Given the description of an element on the screen output the (x, y) to click on. 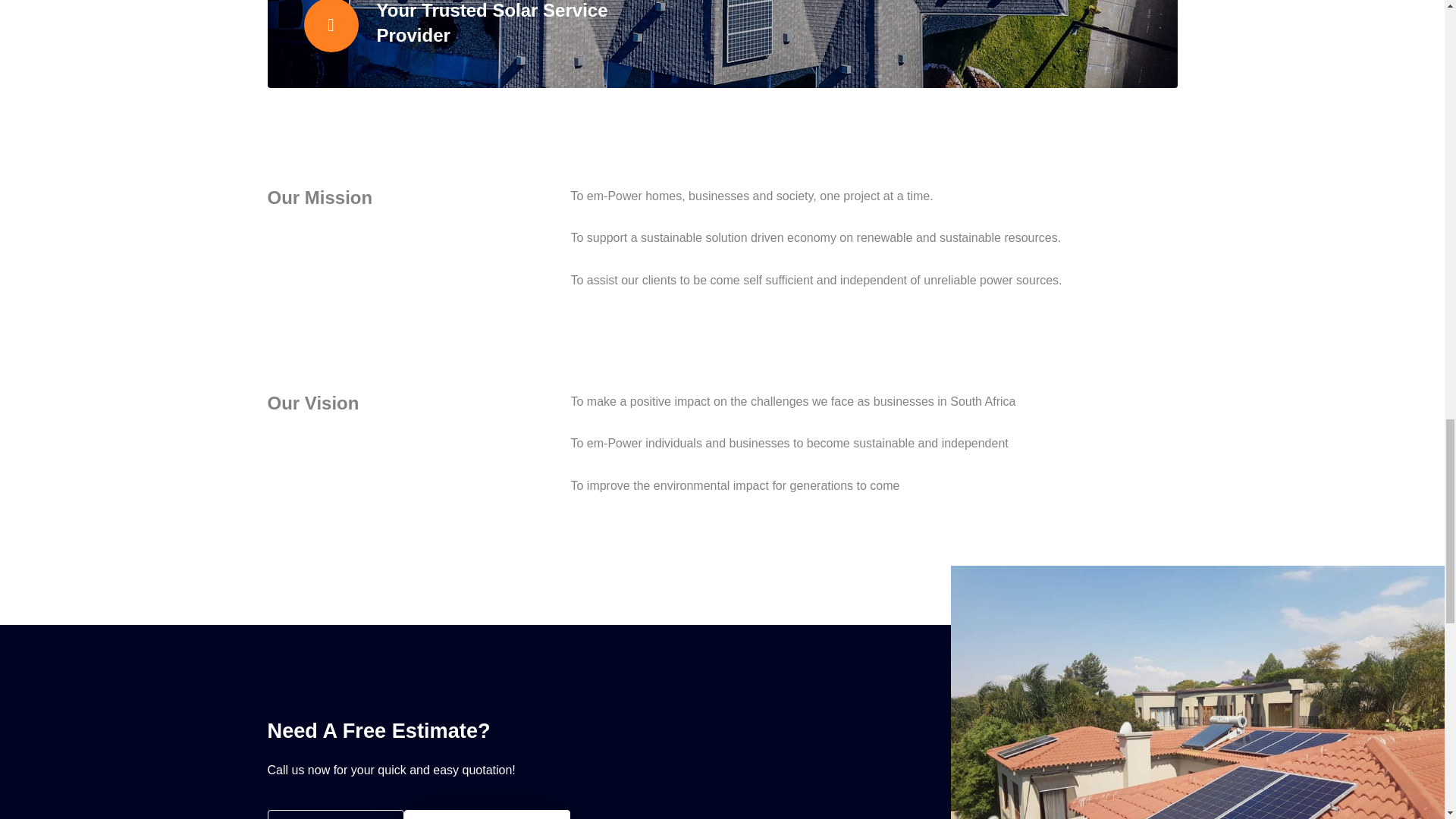
Call Us Now (335, 814)
Get a Free Estimate (487, 814)
Your Trusted Solar Service Provider (491, 22)
